Given the description of an element on the screen output the (x, y) to click on. 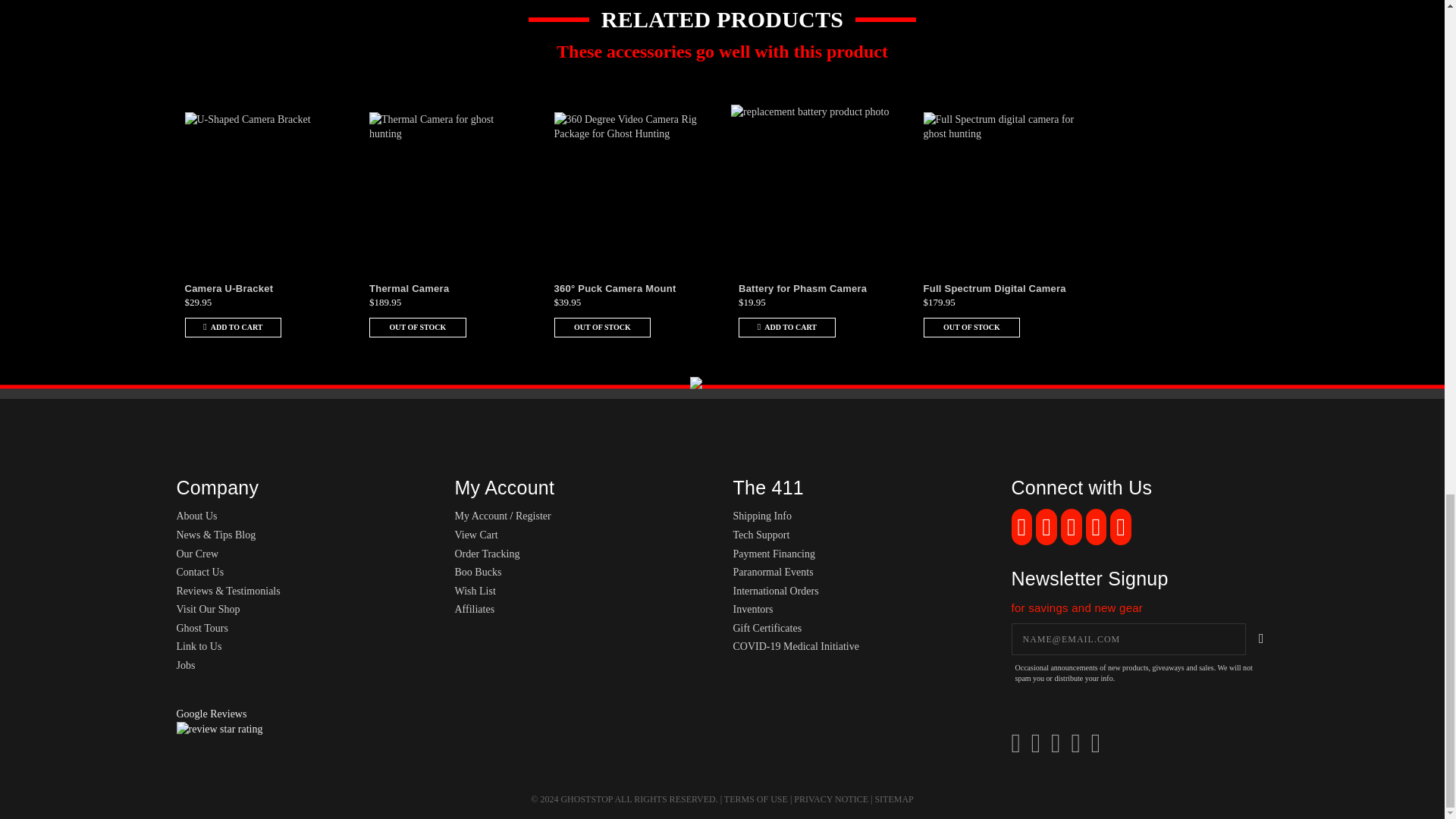
Thermal Camera (408, 288)
U-Shaped Camera Bracket (260, 187)
360 Degree Video Camera Rig Package for Ghost Hunting (628, 187)
Thermal Camera for ghost hunting (445, 187)
Camera U-Bracket (228, 288)
